Given the description of an element on the screen output the (x, y) to click on. 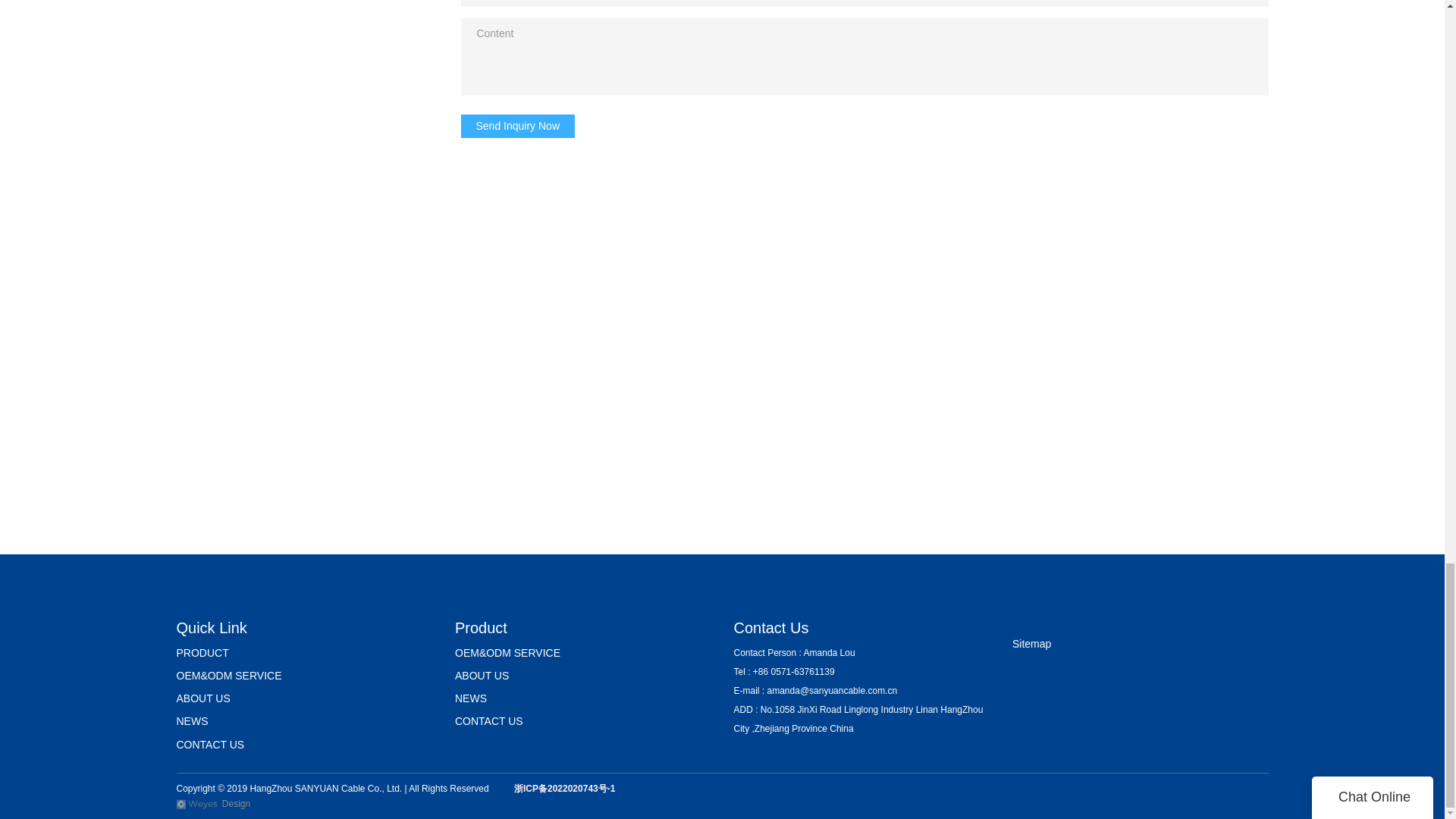
Send Inquiry Now (518, 126)
